Given the description of an element on the screen output the (x, y) to click on. 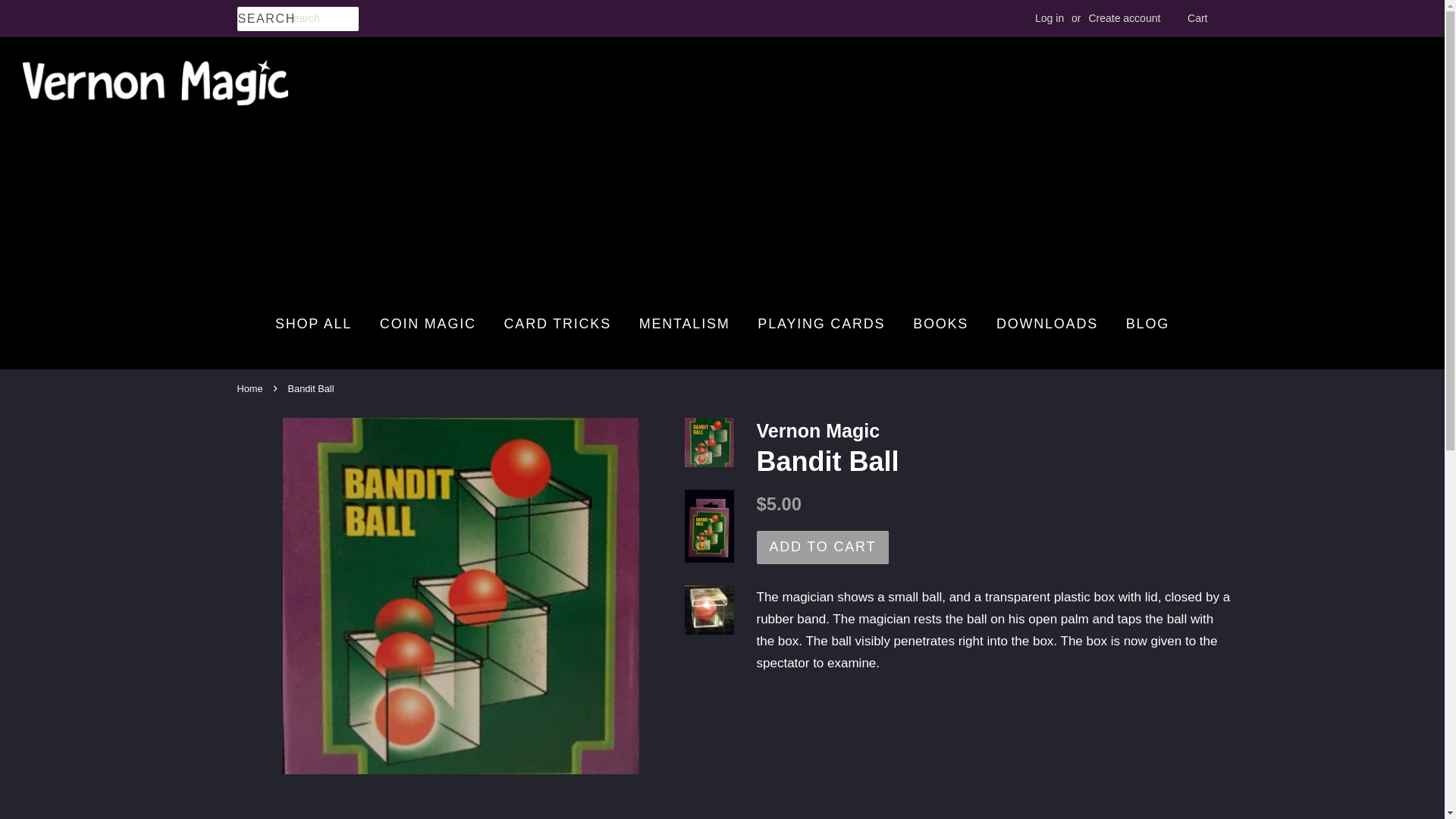
PLAYING CARDS (820, 324)
Back to the frontpage (250, 388)
SHOP ALL (318, 324)
BLOG (1142, 324)
ADD TO CART (823, 547)
BOOKS (940, 324)
Home (250, 388)
COIN MAGIC (427, 324)
DOWNLOADS (1047, 324)
Create account (1123, 18)
SEARCH (260, 18)
MENTALISM (684, 324)
CARD TRICKS (558, 324)
Cart (1197, 18)
Log in (1049, 18)
